Given the description of an element on the screen output the (x, y) to click on. 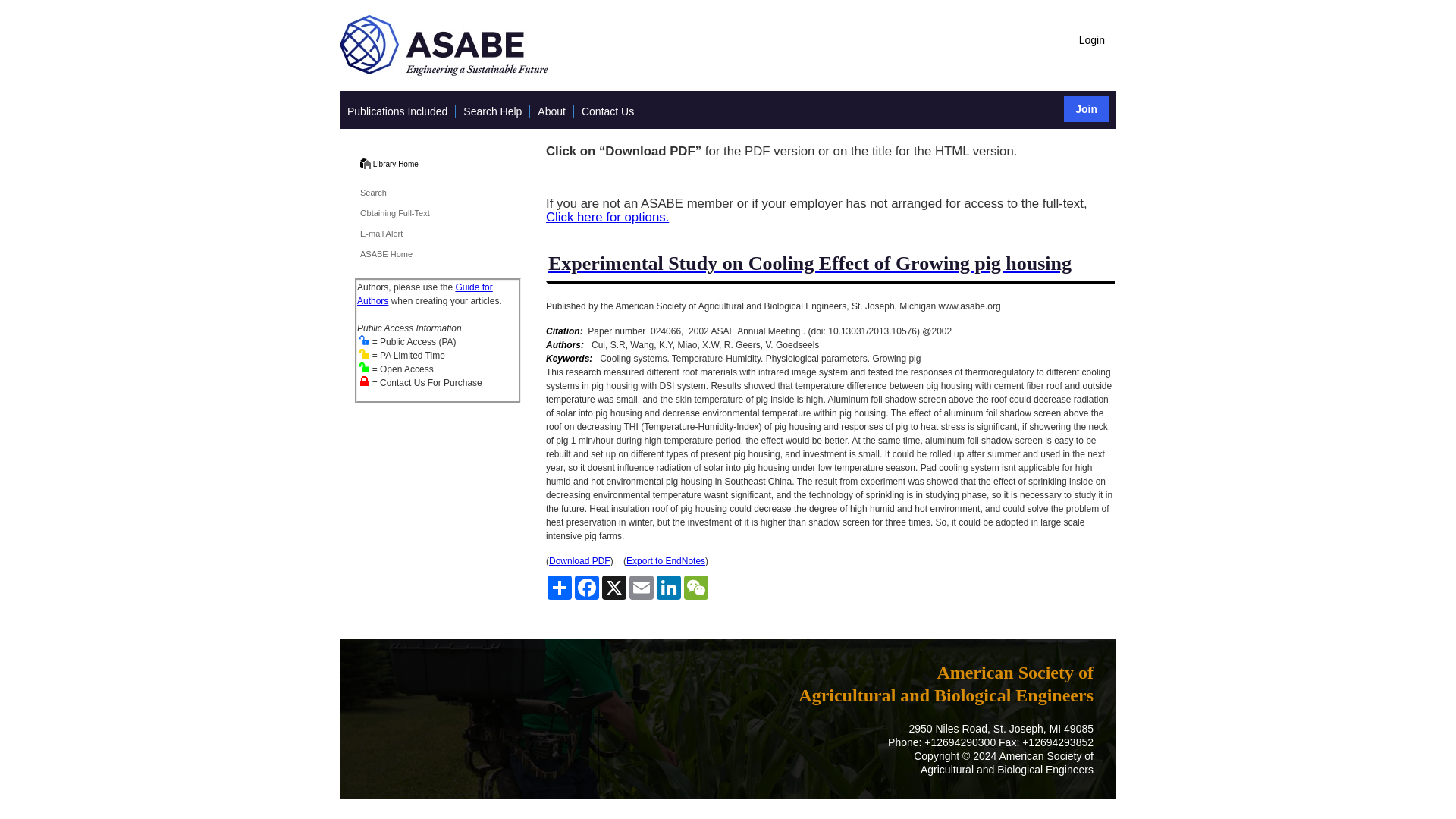
Obtaining Full-Text (394, 212)
E-mail Alert (381, 233)
Library Home (395, 163)
Search Help (491, 111)
Search (373, 192)
Open Access (364, 367)
ASABE (443, 72)
Export to EndNotes (665, 561)
Facebook (586, 587)
About (551, 111)
X (613, 587)
Home (365, 163)
Join (1086, 109)
ASABE Home (385, 253)
Contact Us For Purchase (364, 380)
